Given the description of an element on the screen output the (x, y) to click on. 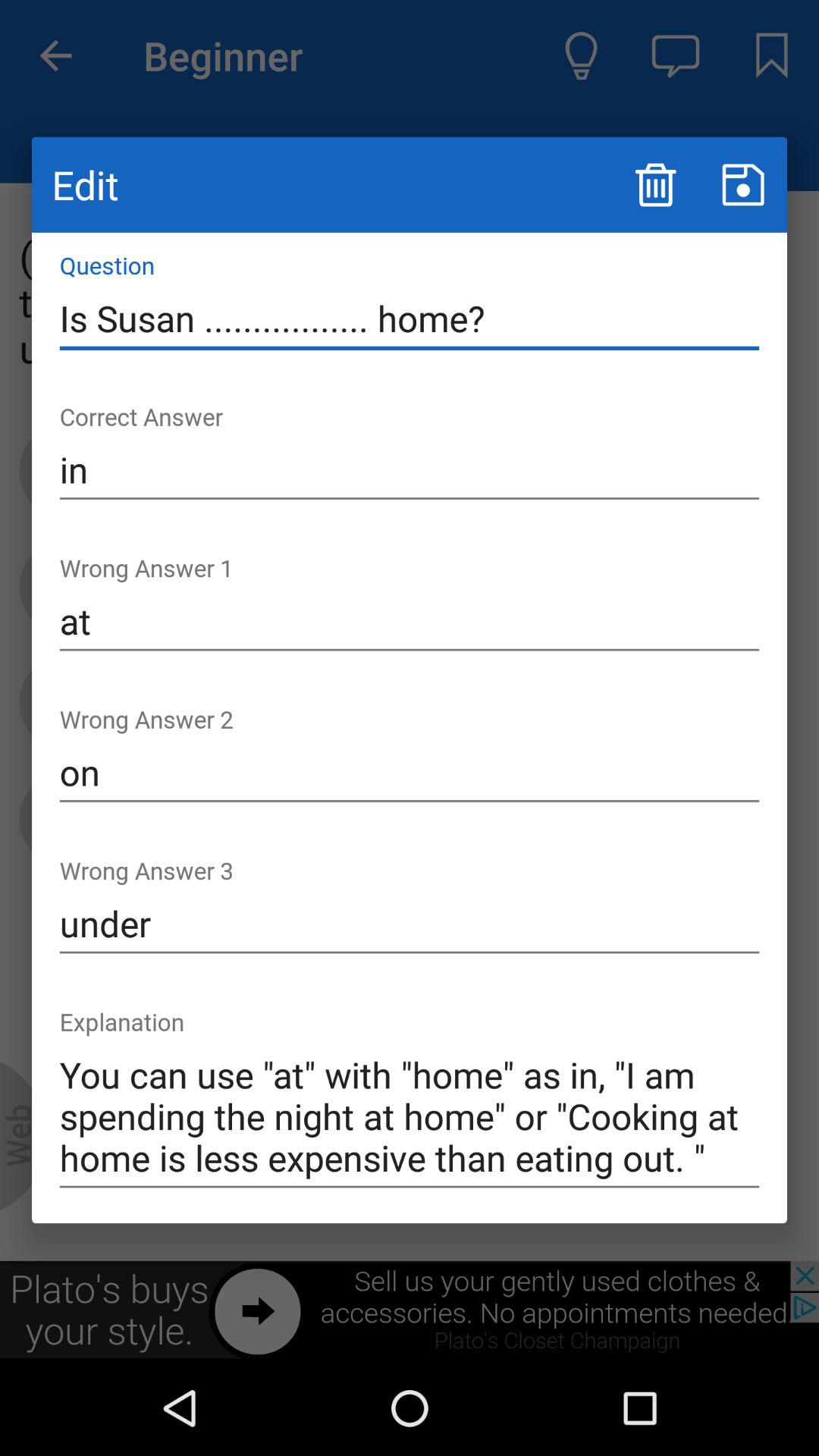
turn off the is susan ................. home?  item (409, 319)
